Given the description of an element on the screen output the (x, y) to click on. 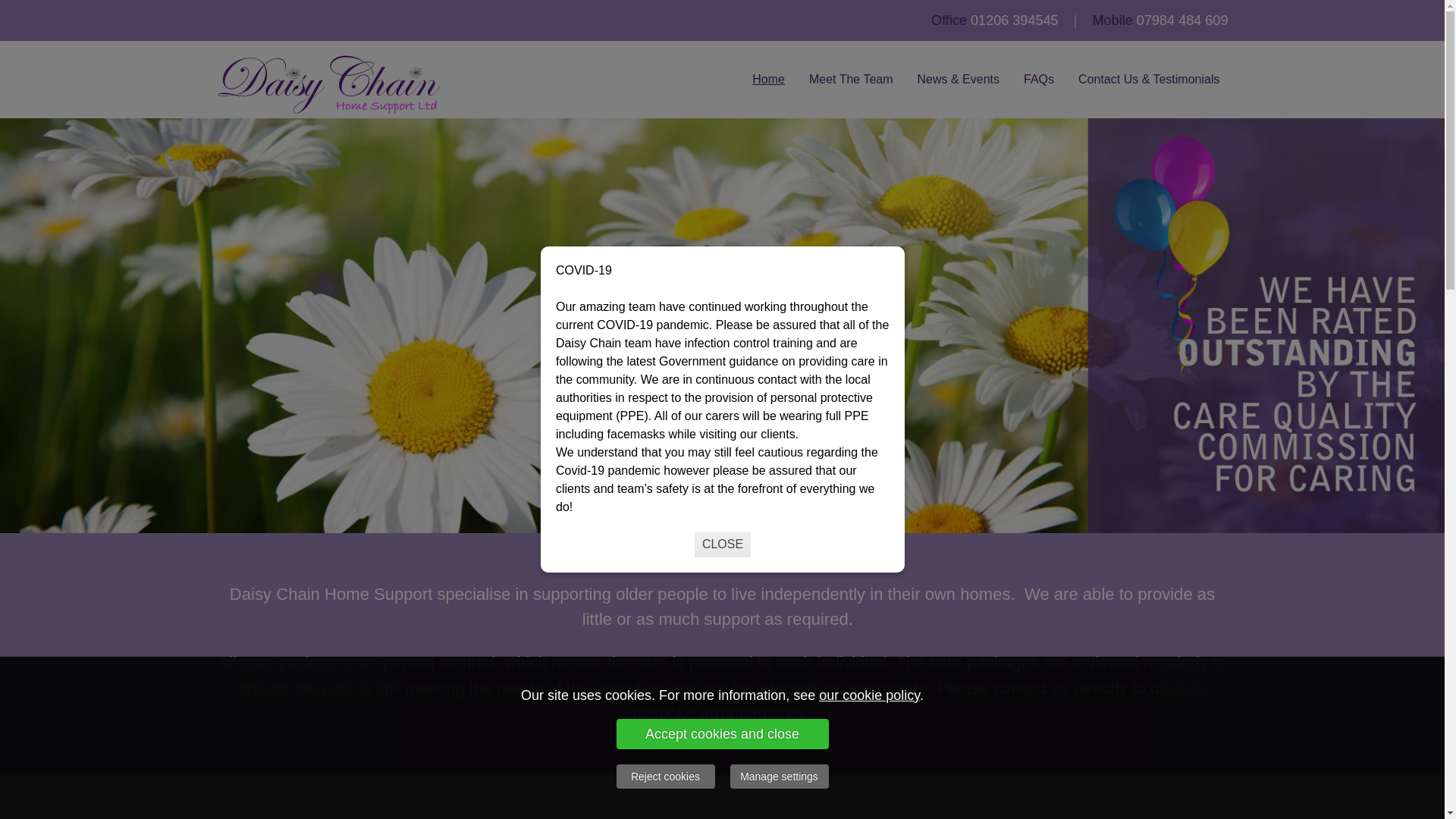
CLOSE (721, 544)
Manage settings (778, 776)
our cookie policy (869, 694)
Meet The Team (850, 79)
FAQs (1038, 79)
